Given the description of an element on the screen output the (x, y) to click on. 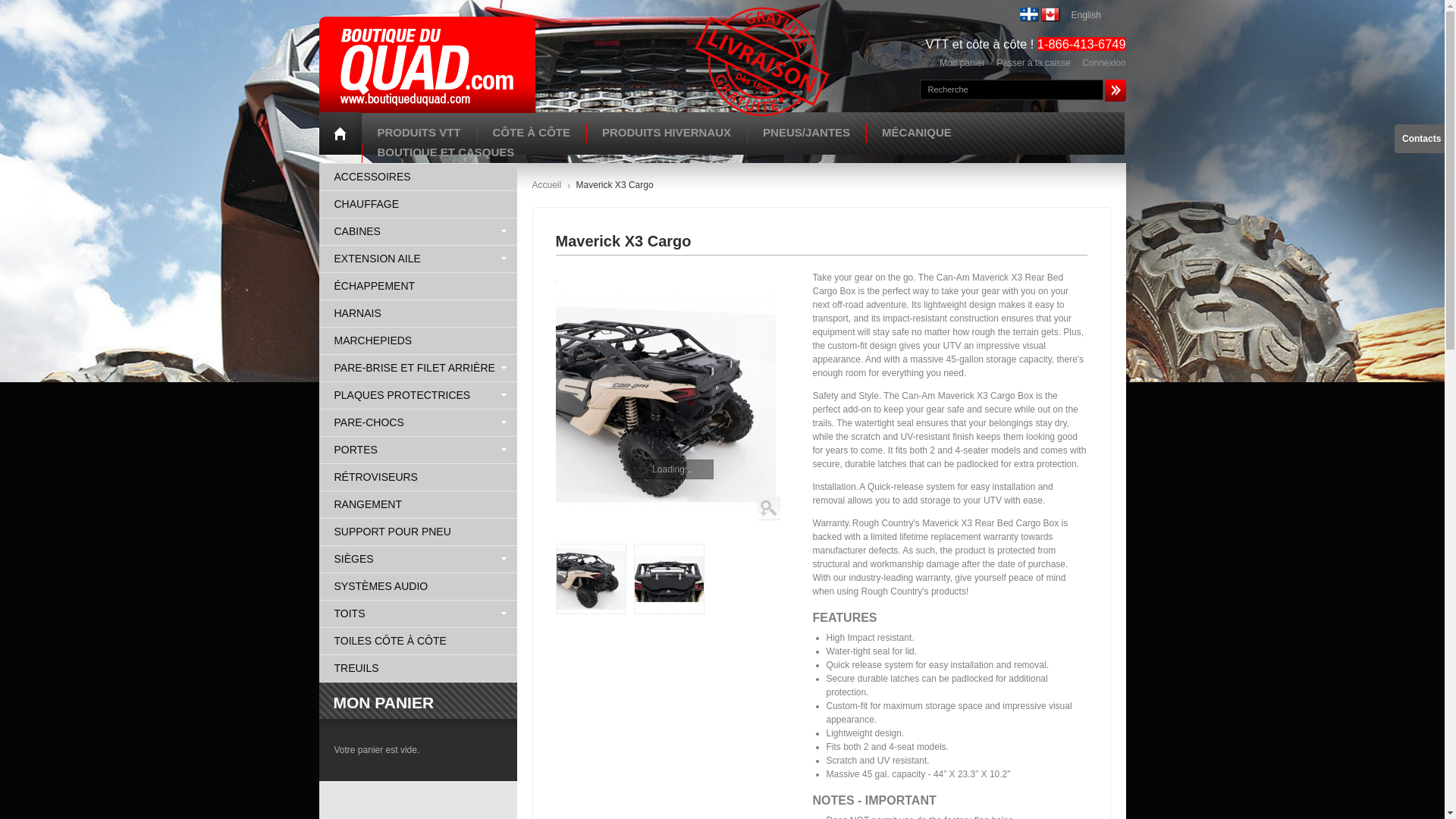
Search (1114, 90)
ACCESSOIRES (417, 176)
EXTENSION AILE (417, 258)
Boutique Motoneige (426, 64)
BOUTIQUE ET CASQUES (446, 151)
Accueil (547, 184)
English (1081, 14)
Checkout (1032, 62)
Boutique du Quad (761, 14)
PRODUITS HIVERNAUX (666, 132)
Connexion (1103, 62)
Connexion (1103, 62)
My Cart (962, 62)
Mon panier (962, 62)
Accueil (547, 184)
